Given the description of an element on the screen output the (x, y) to click on. 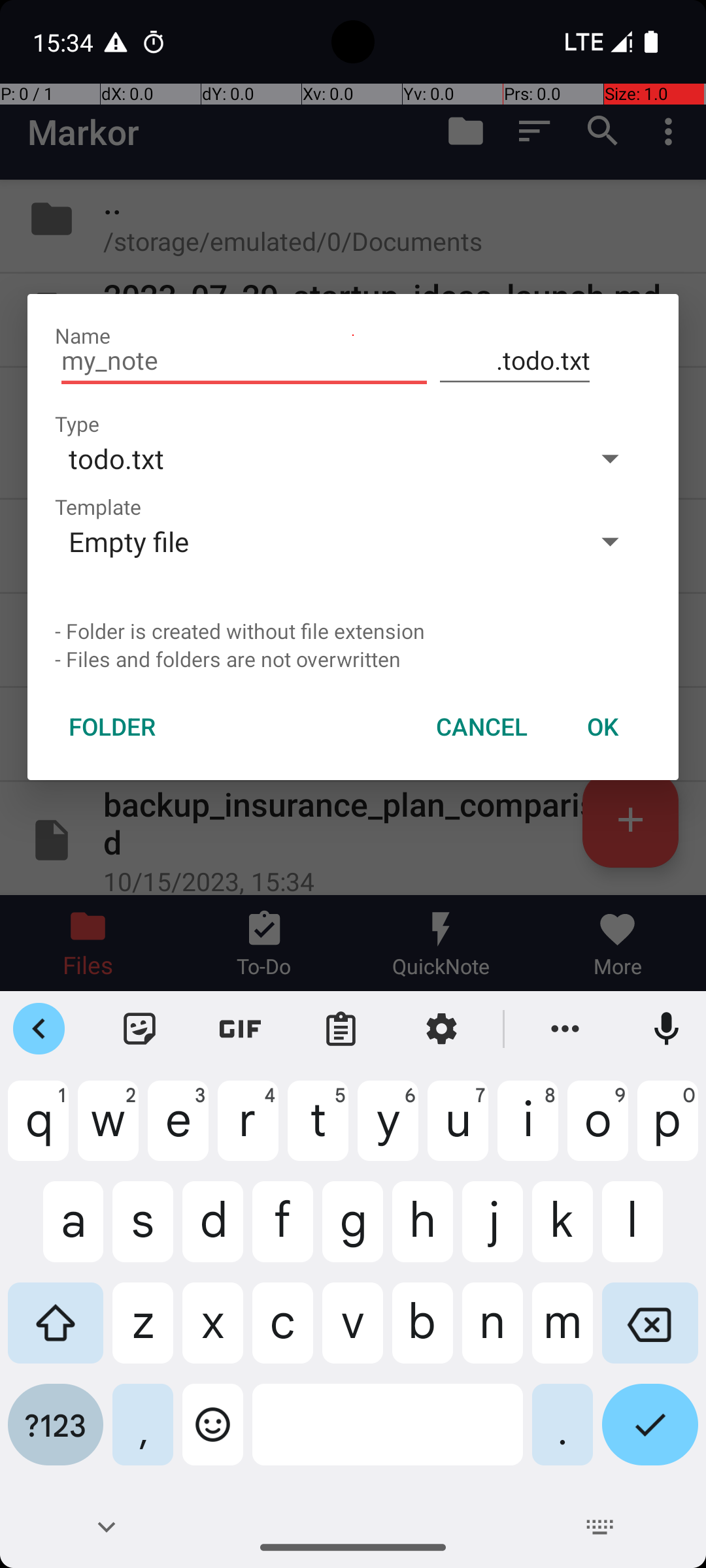
my_note Element type: android.widget.EditText (243, 360)
.todo.txt Element type: android.widget.EditText (514, 360)
Type Element type: android.widget.TextView (76, 423)
Template Element type: android.widget.TextView (97, 506)
- Folder is created without file extension Element type: android.widget.TextView (352, 630)
- Files and folders are not overwritten Element type: android.widget.TextView (352, 658)
FOLDER Element type: android.widget.Button (111, 726)
todo.txt Element type: android.widget.TextView (311, 457)
Empty file Element type: android.widget.TextView (311, 540)
